Given the description of an element on the screen output the (x, y) to click on. 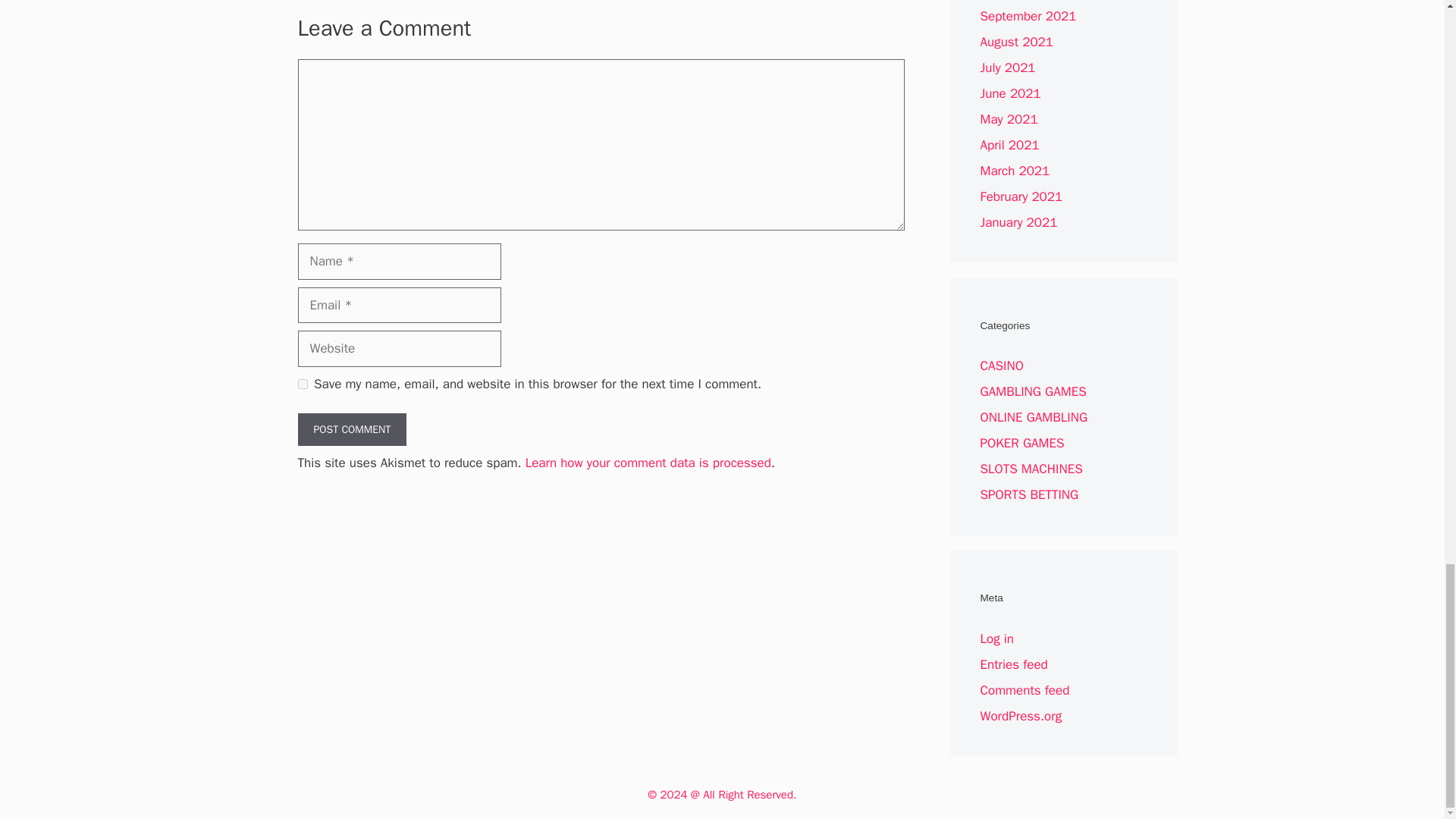
Post Comment (351, 429)
yes (302, 384)
Learn how your comment data is processed (648, 462)
Post Comment (351, 429)
